Given the description of an element on the screen output the (x, y) to click on. 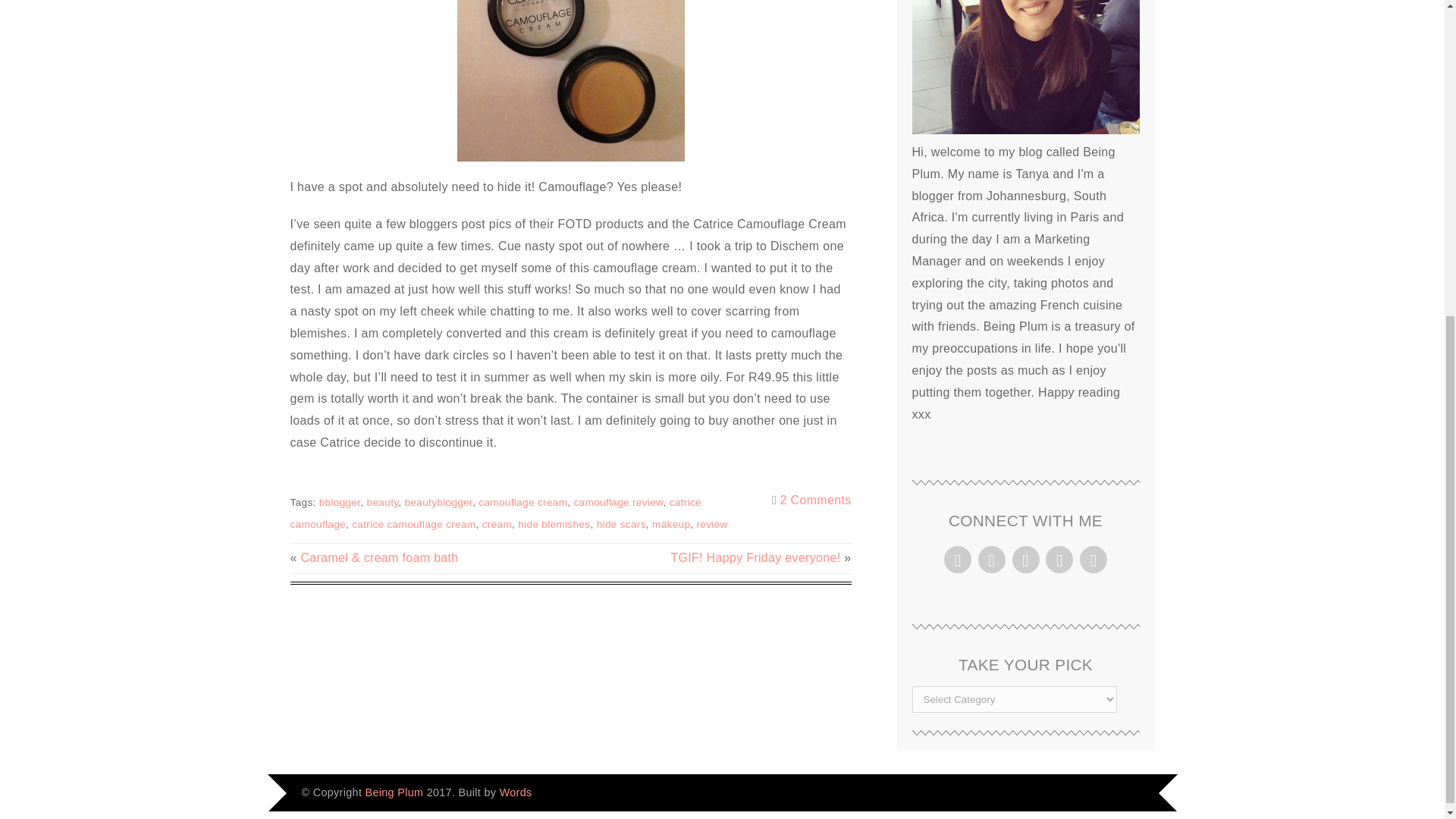
beauty (382, 501)
catrice camouflage (495, 512)
bblogger (339, 501)
review (712, 523)
camouflage review (617, 501)
makeup (671, 523)
camouflage cream (523, 501)
beautyblogger (438, 501)
2 Comments (815, 499)
hide blemishes (553, 523)
